Given the description of an element on the screen output the (x, y) to click on. 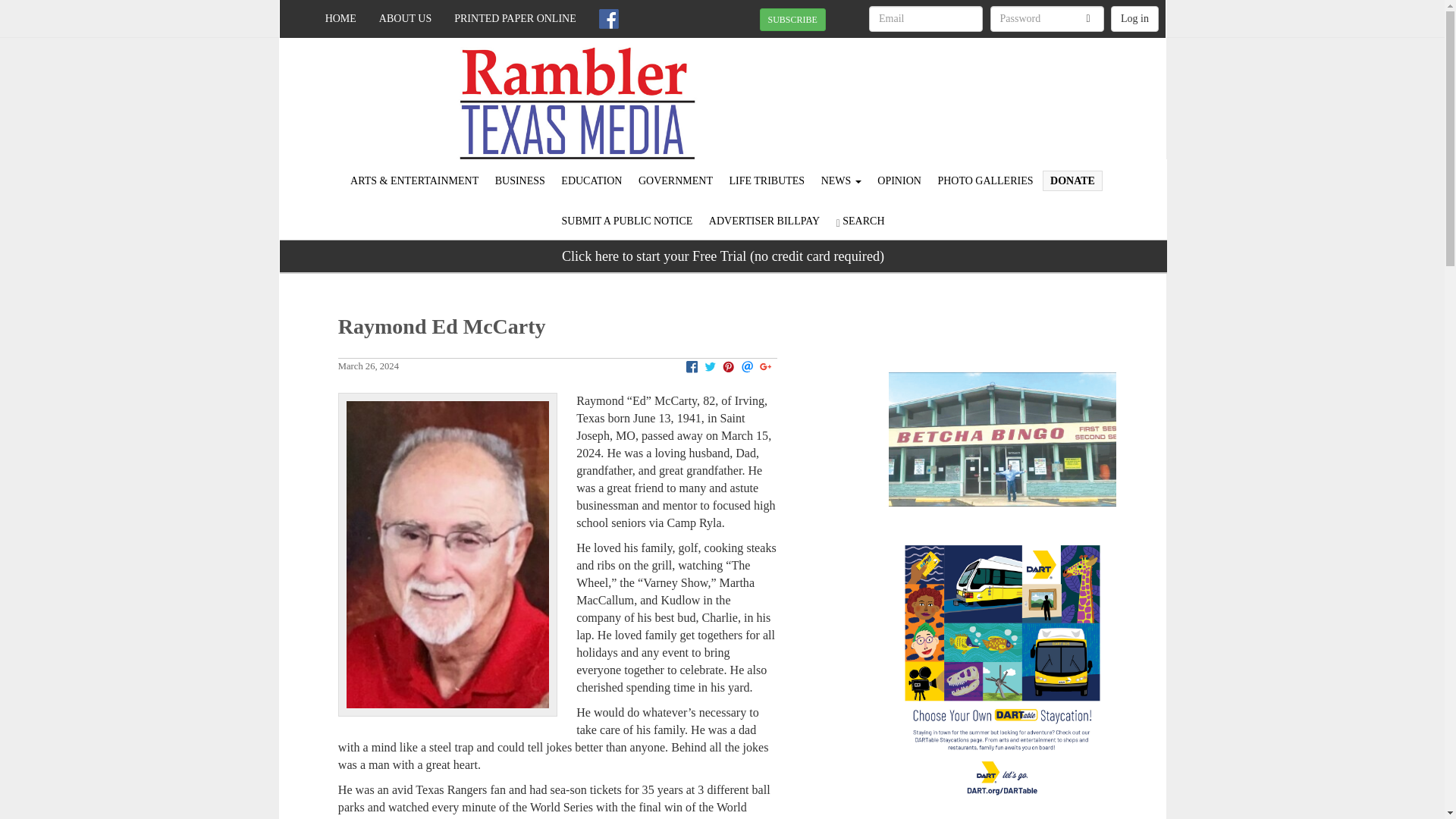
PRINTED PAPER ONLINE (515, 18)
SUBSCRIBE (792, 19)
Log in (1134, 18)
BUSINESS (519, 180)
EDUCATION (591, 180)
SUBSCRIBE (792, 18)
HOME (341, 18)
Facebook (609, 18)
Show password (1088, 18)
Log in (1134, 18)
ABOUT US (405, 18)
